Given the description of an element on the screen output the (x, y) to click on. 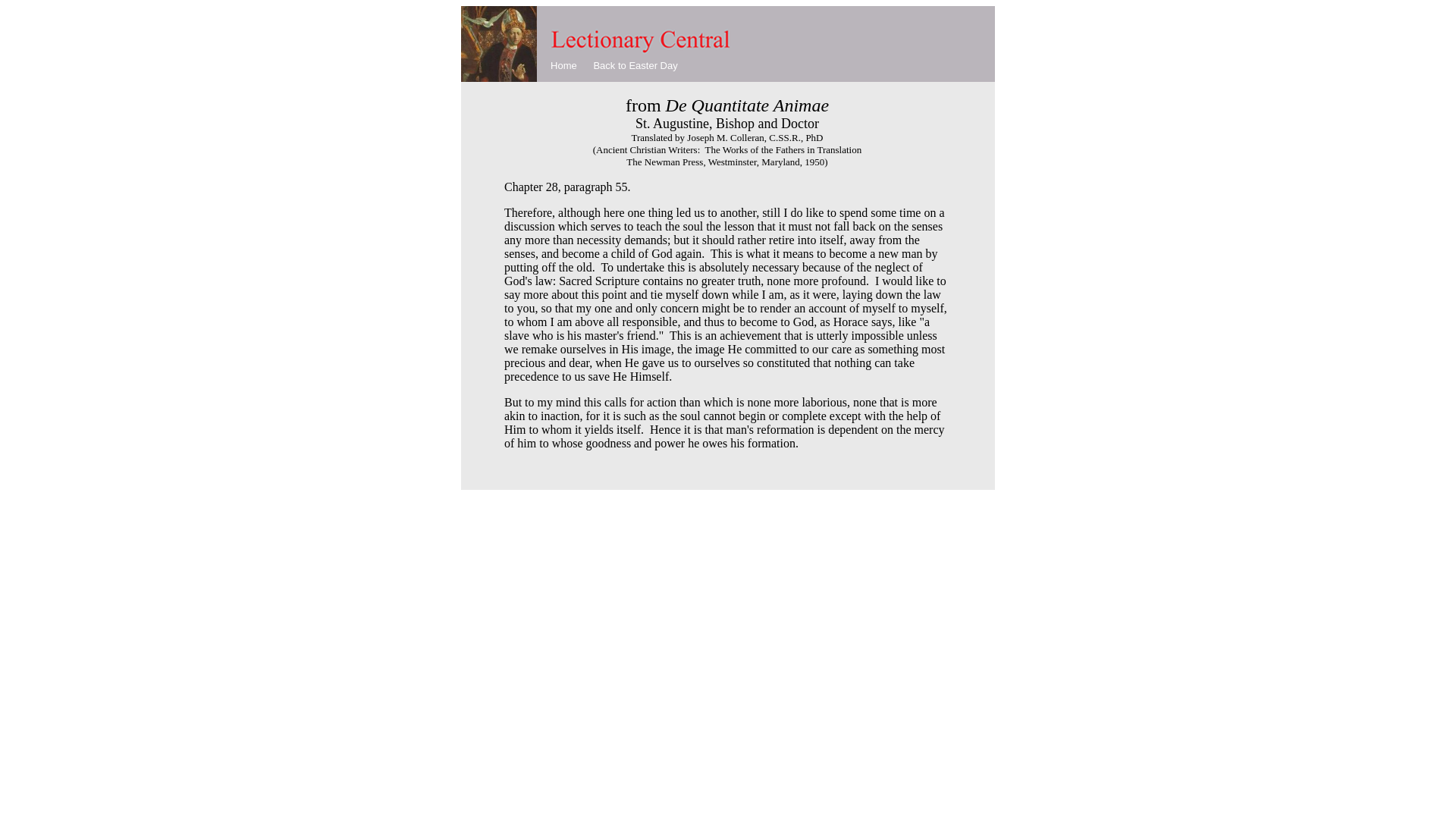
Home (563, 65)
Back to Easter Day (635, 65)
